Given the description of an element on the screen output the (x, y) to click on. 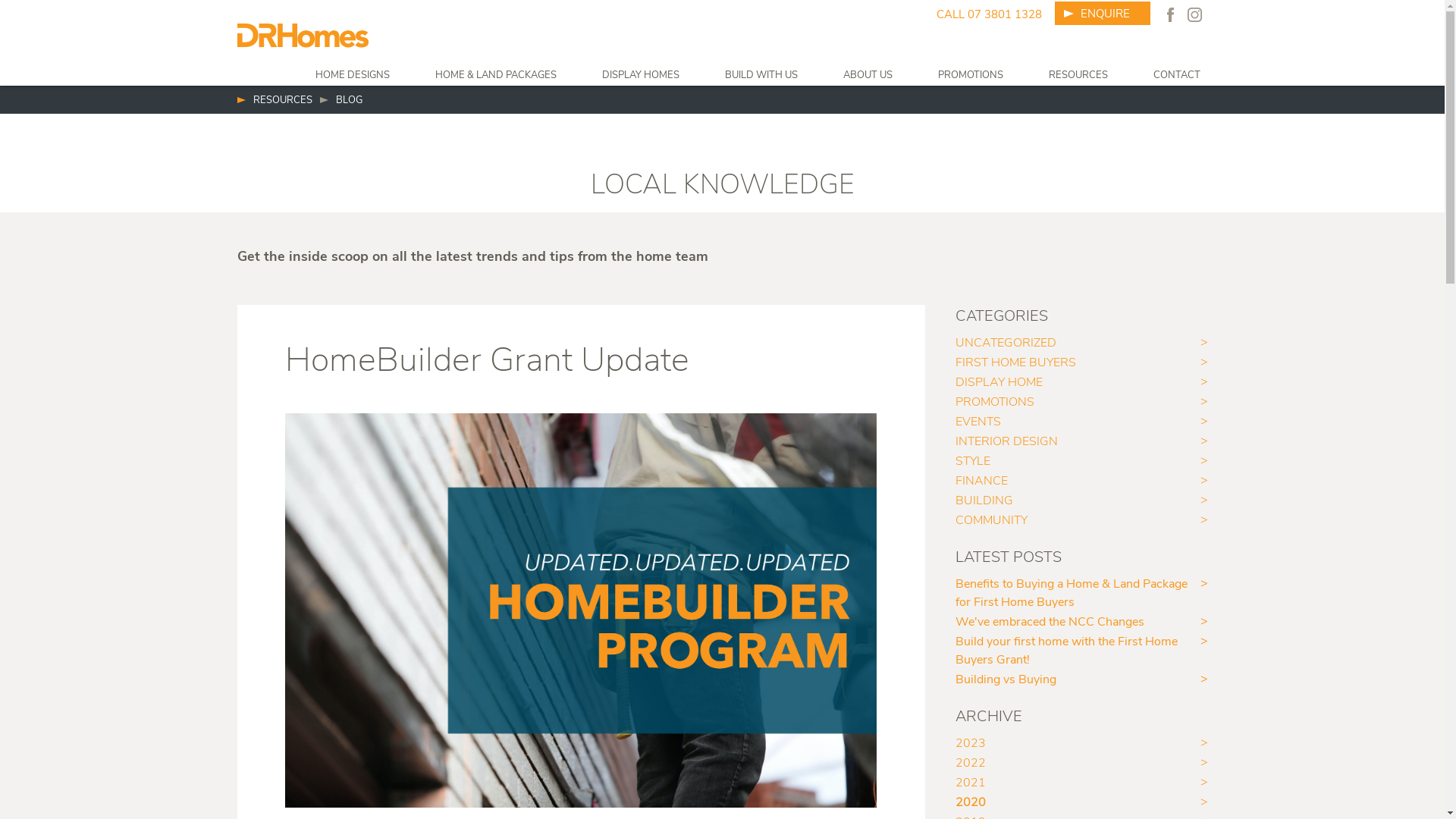
2023 Element type: text (1081, 743)
EVENTS Element type: text (1081, 421)
We've embraced the NCC Changes Element type: text (1081, 621)
ABOUT US Element type: text (867, 75)
PROMOTIONS Element type: text (1081, 401)
DISPLAY HOME Element type: text (1081, 382)
COMMUNITY Element type: text (1081, 520)
HOME & LAND PACKAGES Element type: text (495, 75)
HOME DESIGNS Element type: text (352, 75)
FIRST HOME BUYERS Element type: text (1081, 362)
CALL 07 3801 1328 Element type: text (988, 14)
Building vs Buying Element type: text (1081, 679)
BUILD WITH US Element type: text (761, 75)
ENQUIRE Element type: text (1101, 13)
FINANCE Element type: text (1081, 480)
2022 Element type: text (1081, 762)
STYLE Element type: text (1081, 460)
PROMOTIONS Element type: text (969, 75)
UNCATEGORIZED Element type: text (1081, 342)
BUILDING Element type: text (1081, 500)
INTERIOR DESIGN Element type: text (1081, 441)
2020 Element type: text (1081, 802)
Build your first home with the First Home Buyers Grant! Element type: text (1081, 650)
RESOURCES Element type: text (1077, 75)
RESOURCES Element type: text (273, 100)
BLOG Element type: text (341, 100)
CONTACT Element type: text (1176, 75)
DISPLAY HOMES Element type: text (640, 75)
2021 Element type: text (1081, 782)
